Given the description of an element on the screen output the (x, y) to click on. 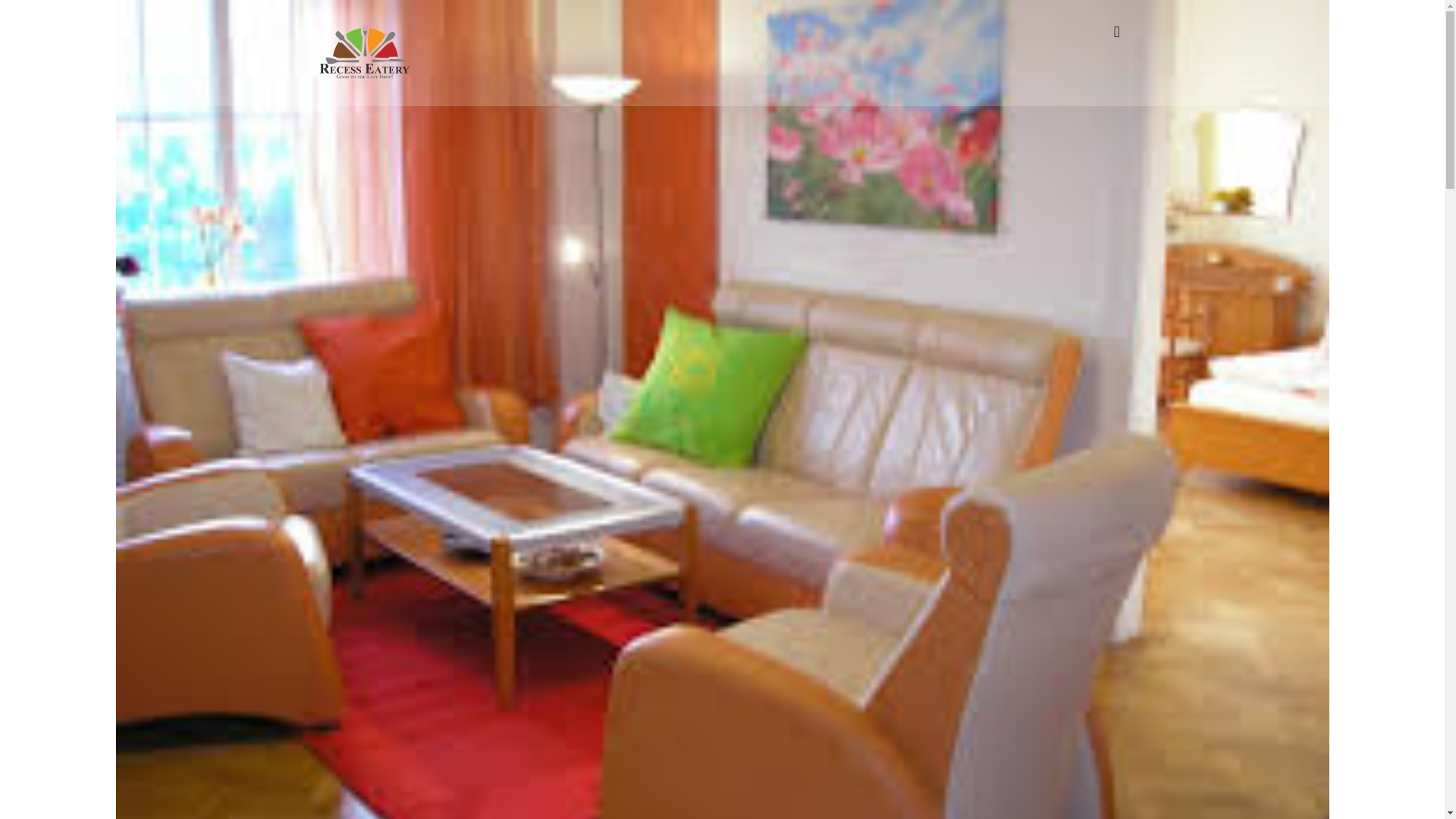
Recess Eatery (363, 76)
Recess Eatery (363, 51)
